Given the description of an element on the screen output the (x, y) to click on. 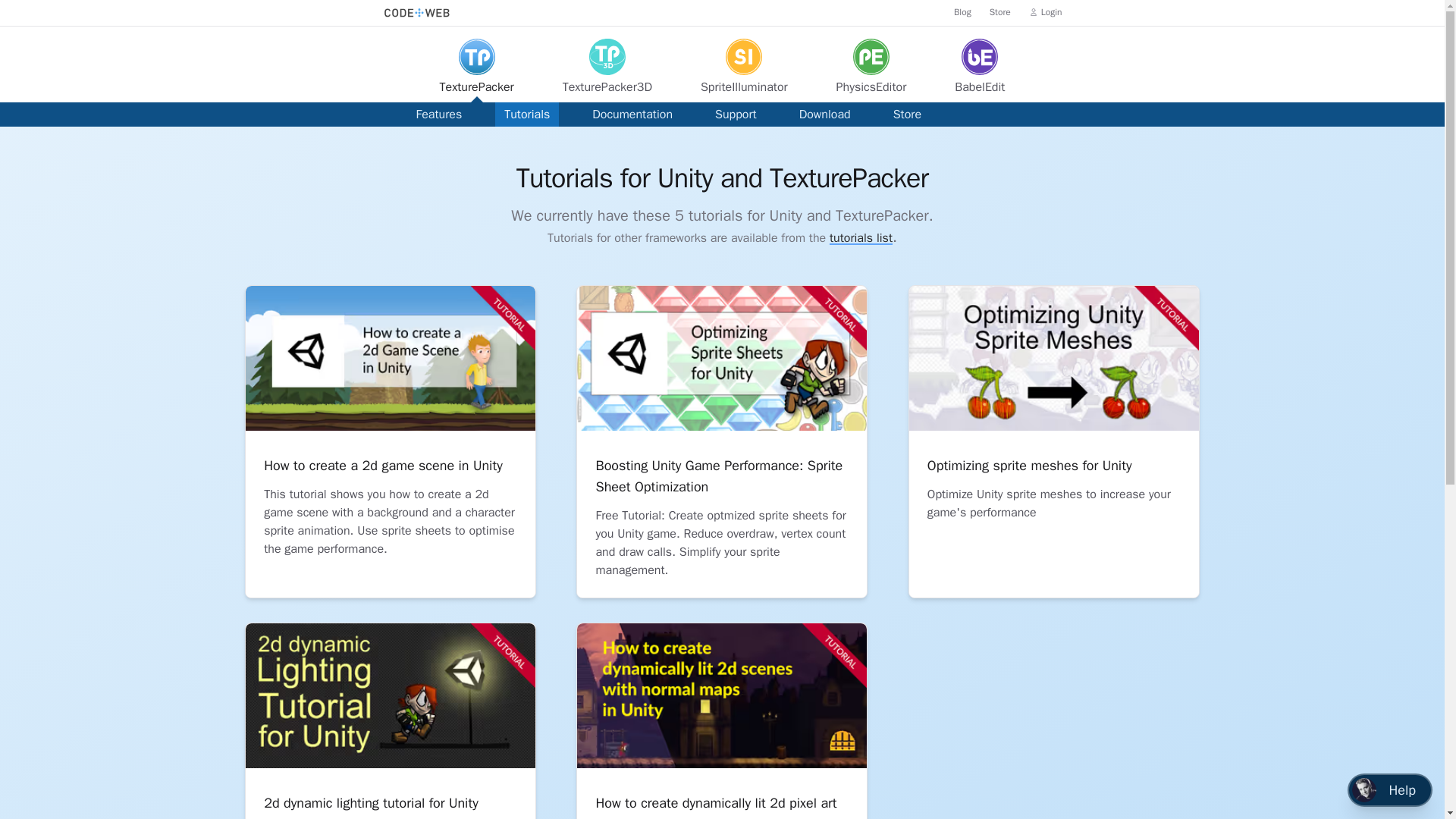
Blog (962, 12)
Tutorials (527, 114)
Support (735, 114)
Login (1045, 12)
BabelEdit (979, 70)
Features (438, 114)
PhysicsEditor (871, 70)
